Given the description of an element on the screen output the (x, y) to click on. 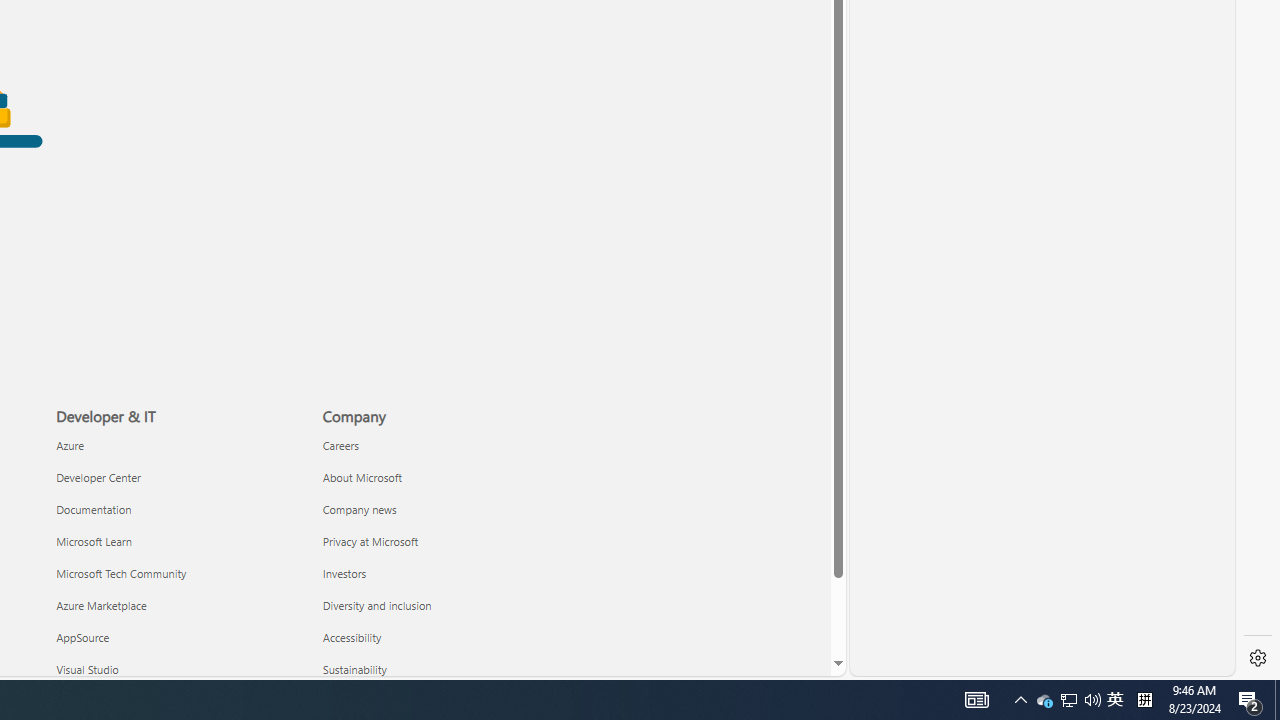
Company news (443, 509)
Documentation Developer & IT (93, 508)
Visual Studio (177, 669)
Developer Center (177, 476)
Developer Center Developer & IT (98, 476)
Documentation (177, 509)
Privacy at Microsoft (443, 541)
Azure Marketplace (177, 605)
Visual Studio Developer & IT (87, 668)
Microsoft Learn Developer & IT (93, 540)
Azure Marketplace Developer & IT (101, 604)
Investors Company (344, 573)
AppSource Developer & IT (83, 637)
Azure (177, 445)
Accessibility (443, 636)
